Given the description of an element on the screen output the (x, y) to click on. 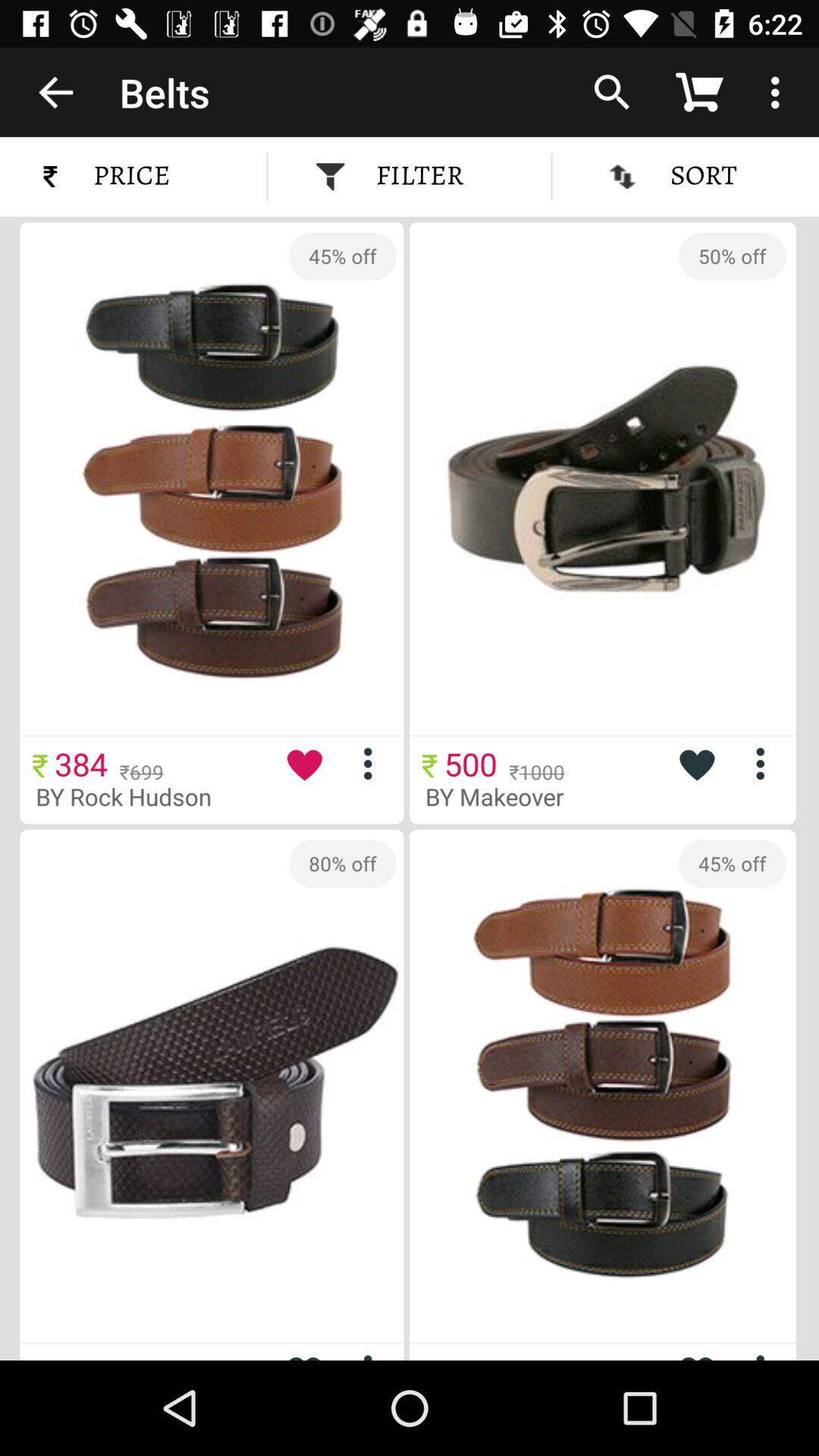
more options (373, 763)
